Given the description of an element on the screen output the (x, y) to click on. 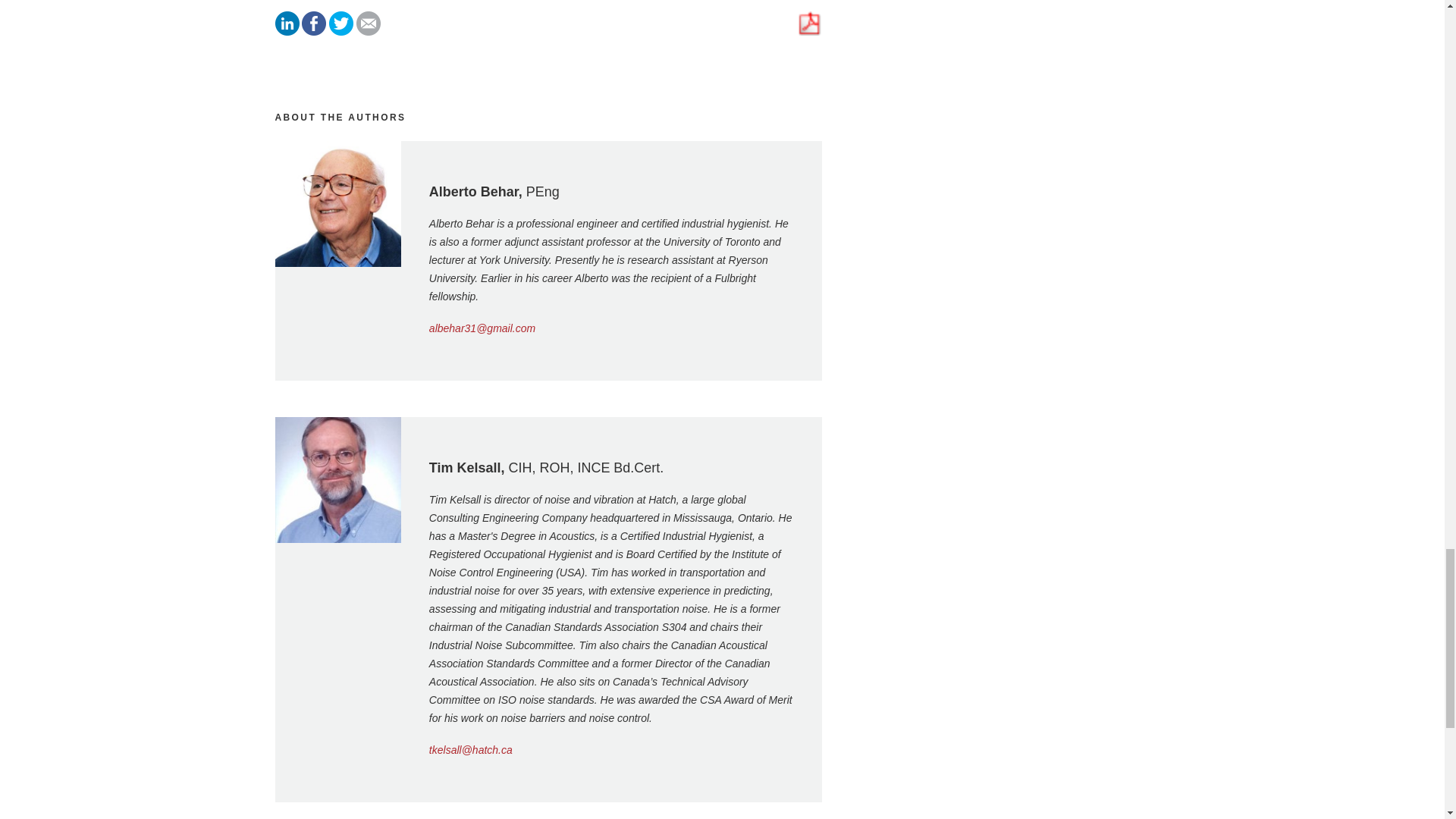
Send email (368, 31)
Share on Facebook (313, 31)
Tweet (341, 31)
Share on LinkedIn (286, 31)
